Given the description of an element on the screen output the (x, y) to click on. 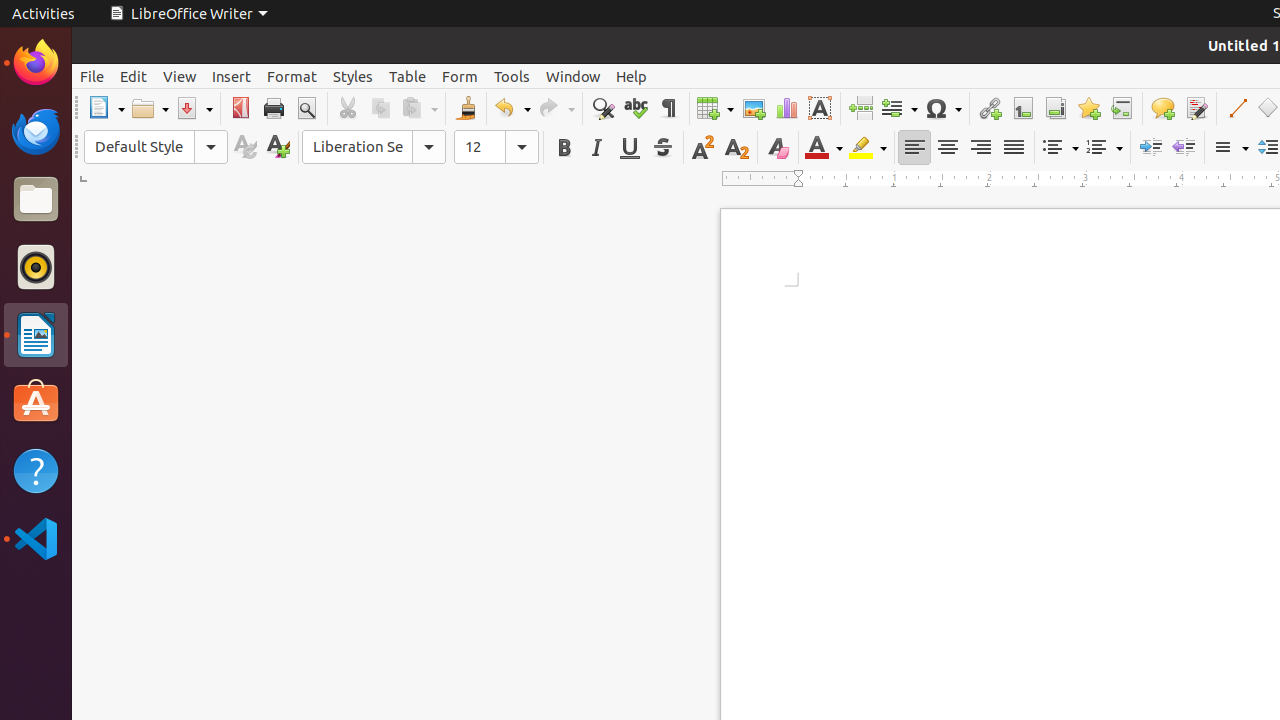
Find & Replace Element type: toggle-button (602, 108)
Format Element type: menu (292, 76)
Paste Element type: push-button (419, 108)
Edit Element type: menu (133, 76)
Right Element type: toggle-button (980, 147)
